Given the description of an element on the screen output the (x, y) to click on. 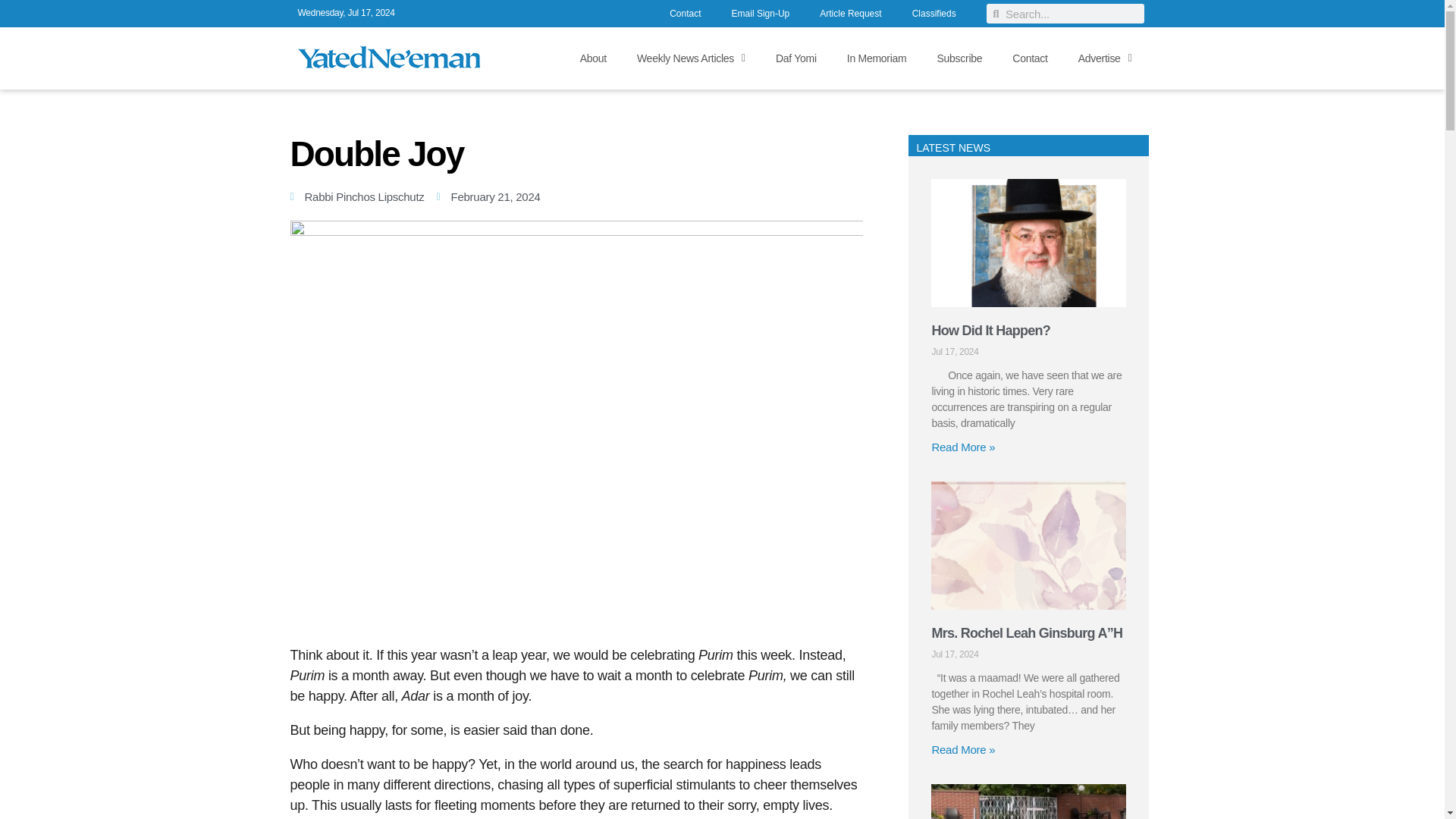
Email Sign-Up (760, 15)
Daf Yomi (795, 58)
Contact (1029, 58)
Contact (684, 15)
In Memoriam (876, 58)
Subscribe (959, 58)
Classifieds (933, 15)
About (592, 58)
Advertise (1104, 58)
Weekly News Articles (690, 58)
Article Request (850, 15)
